Given the description of an element on the screen output the (x, y) to click on. 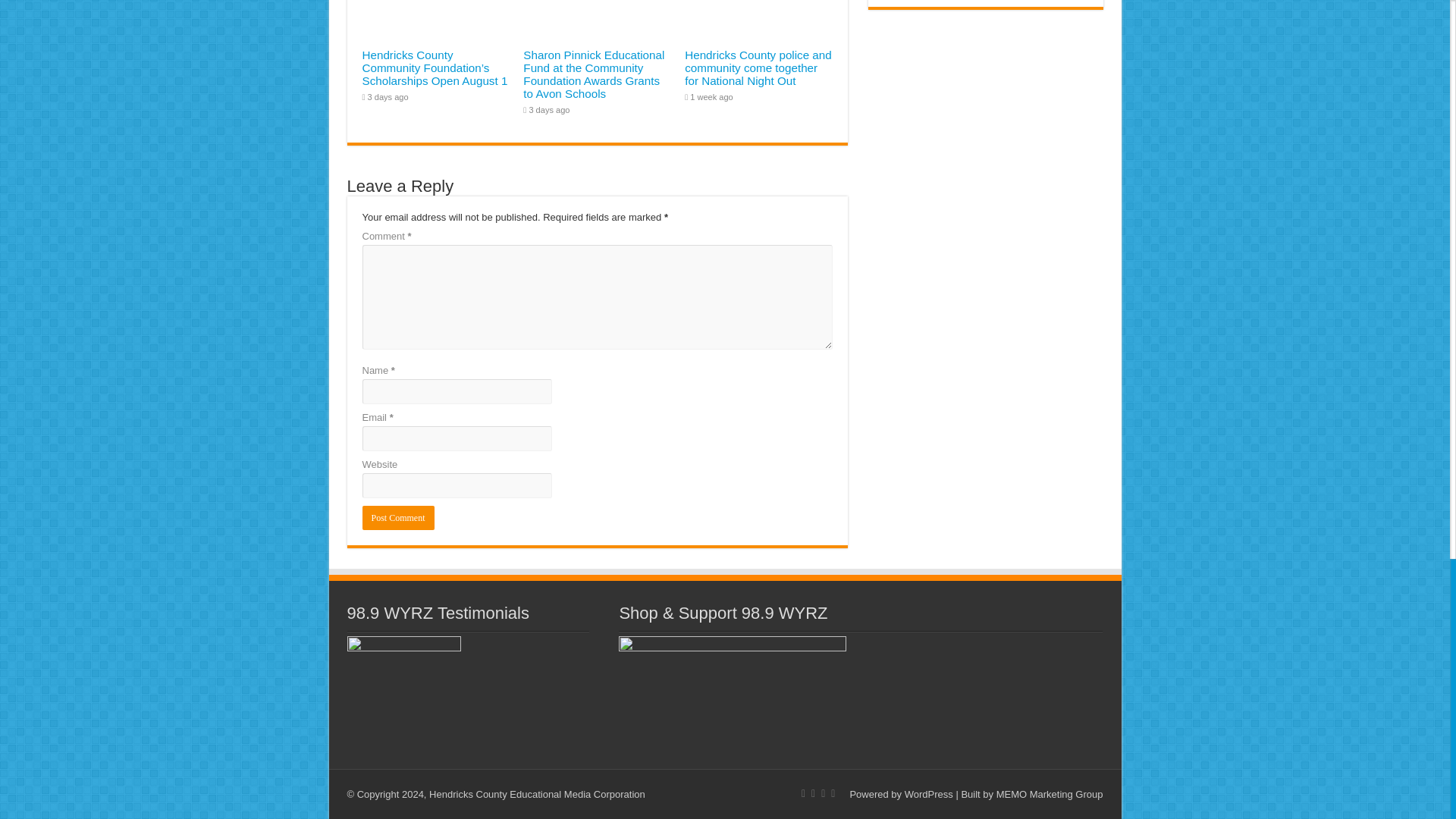
Post Comment (397, 517)
